Given the description of an element on the screen output the (x, y) to click on. 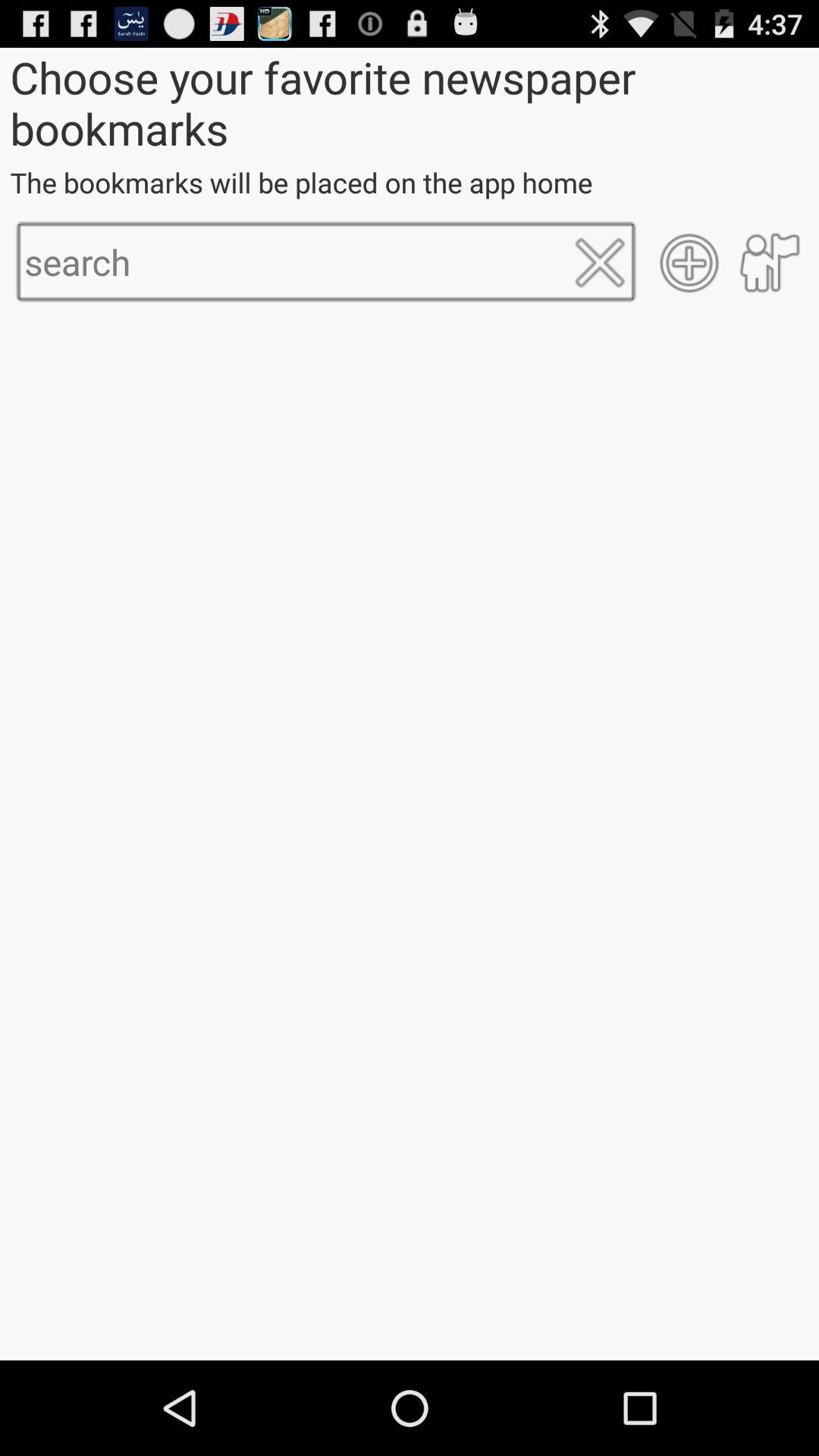
open item below the the bookmarks will (768, 262)
